Given the description of an element on the screen output the (x, y) to click on. 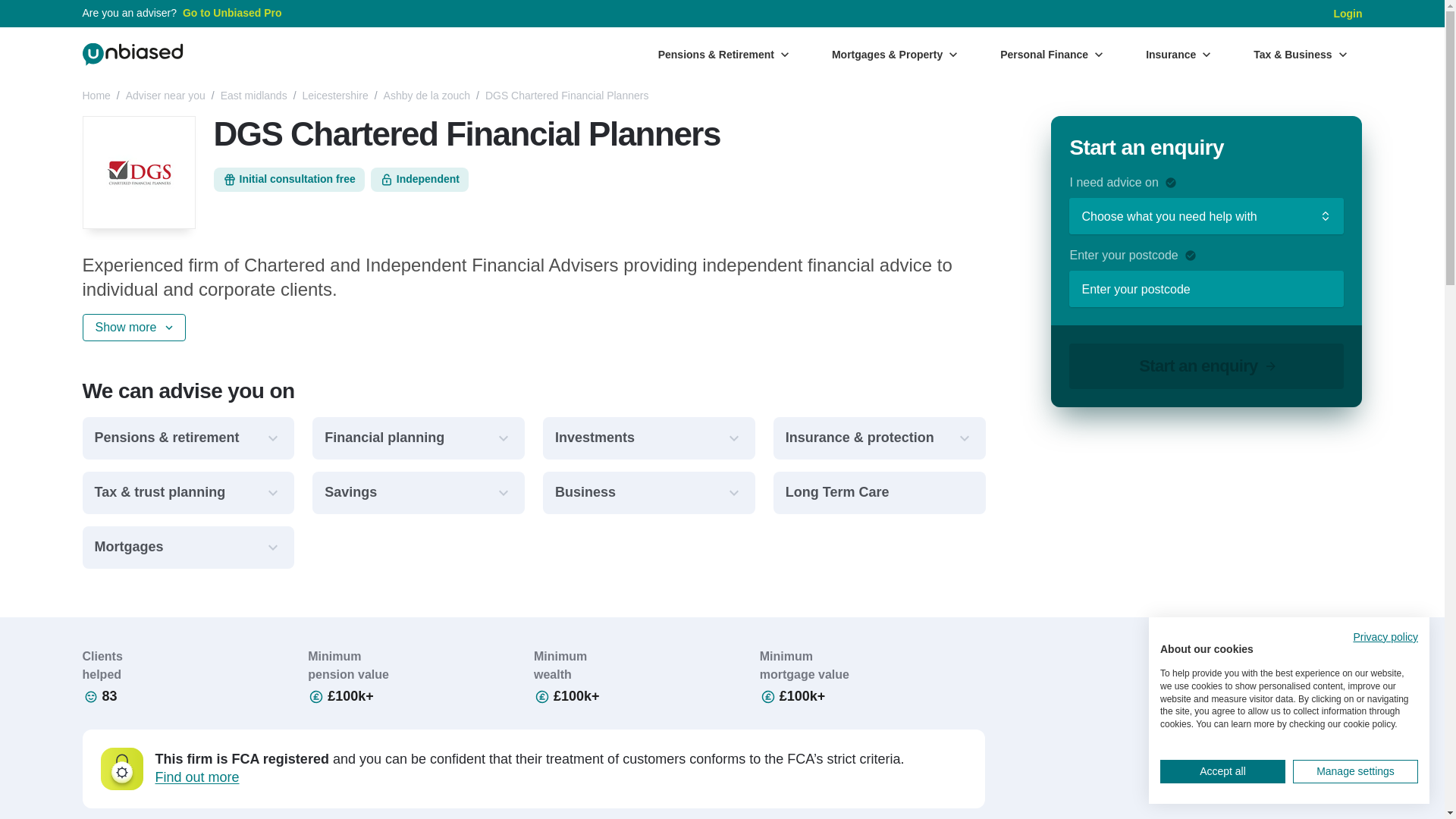
Find out more (196, 778)
Savings (418, 492)
Leicestershire (335, 95)
Start an enquiry (1205, 366)
Show more (133, 327)
Adviser near you (165, 95)
Go to Unbiased Pro (232, 13)
Financial planning (418, 437)
East midlands (253, 95)
Login (1347, 14)
Insurance (1178, 54)
Mortgages (187, 547)
Home (95, 95)
Investments (649, 437)
Ashby de la zouch (427, 95)
